Given the description of an element on the screen output the (x, y) to click on. 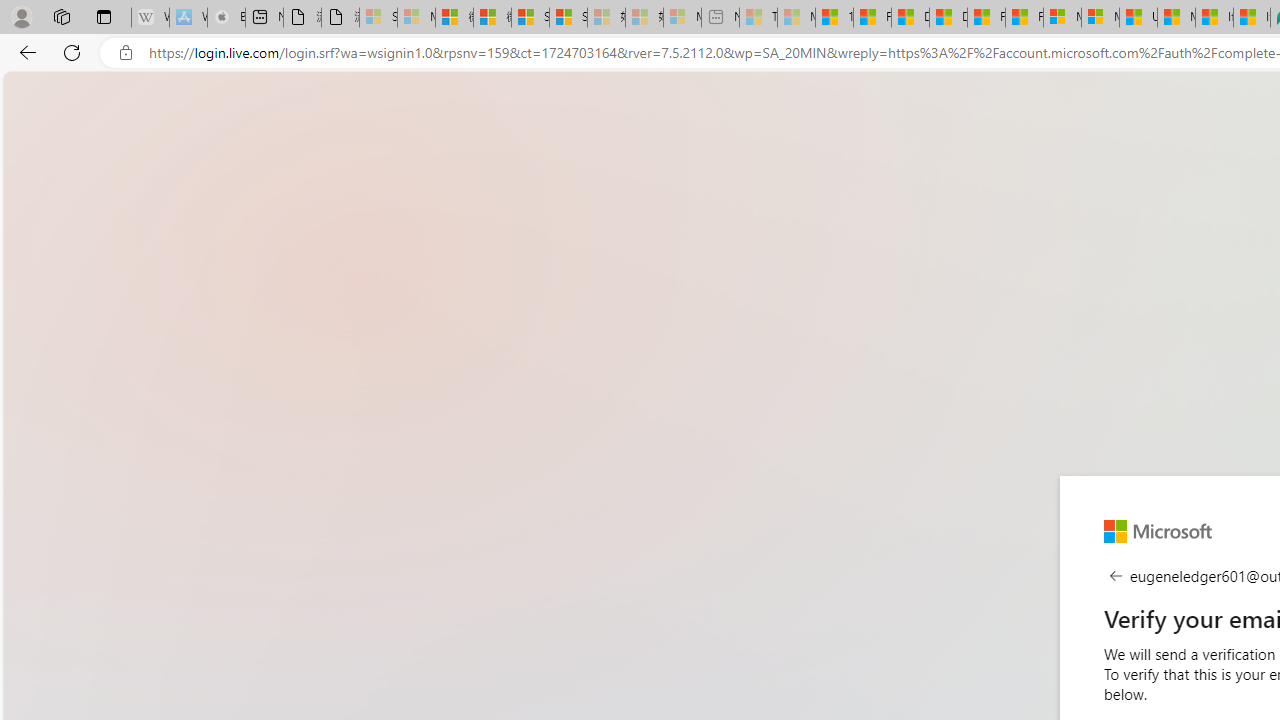
Food and Drink - MSN (871, 17)
Microsoft Services Agreement - Sleeping (416, 17)
Drinking tea every day is proven to delay biological aging (948, 17)
Marine life - MSN - Sleeping (796, 17)
Sign in to your Microsoft account - Sleeping (377, 17)
Top Stories - MSN - Sleeping (757, 17)
